Given the description of an element on the screen output the (x, y) to click on. 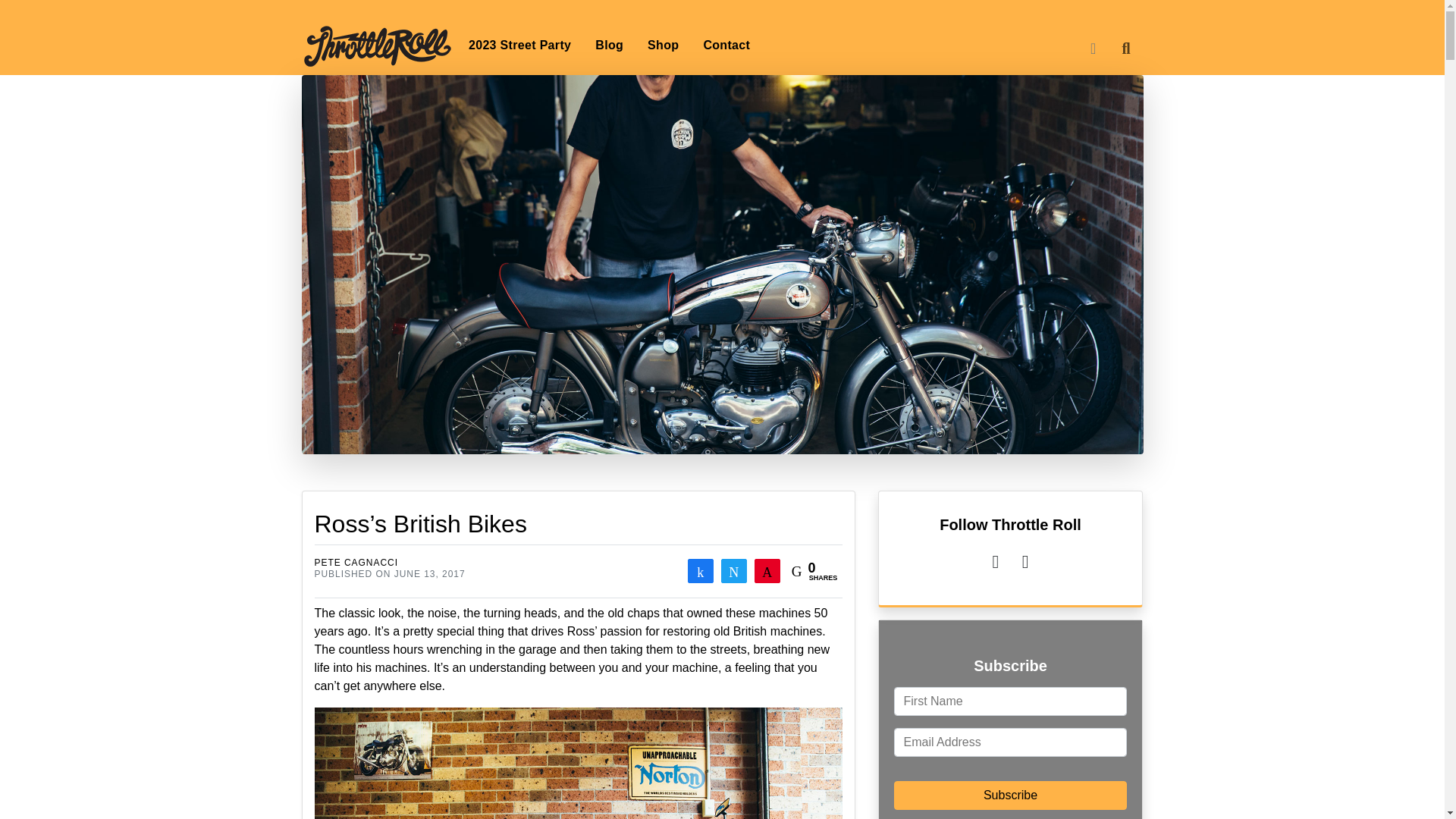
2023 Street Party (520, 45)
Shop (662, 45)
Contact (725, 45)
Blog (608, 45)
Subscribe (1009, 795)
PETE CAGNACCI (355, 562)
